Given the description of an element on the screen output the (x, y) to click on. 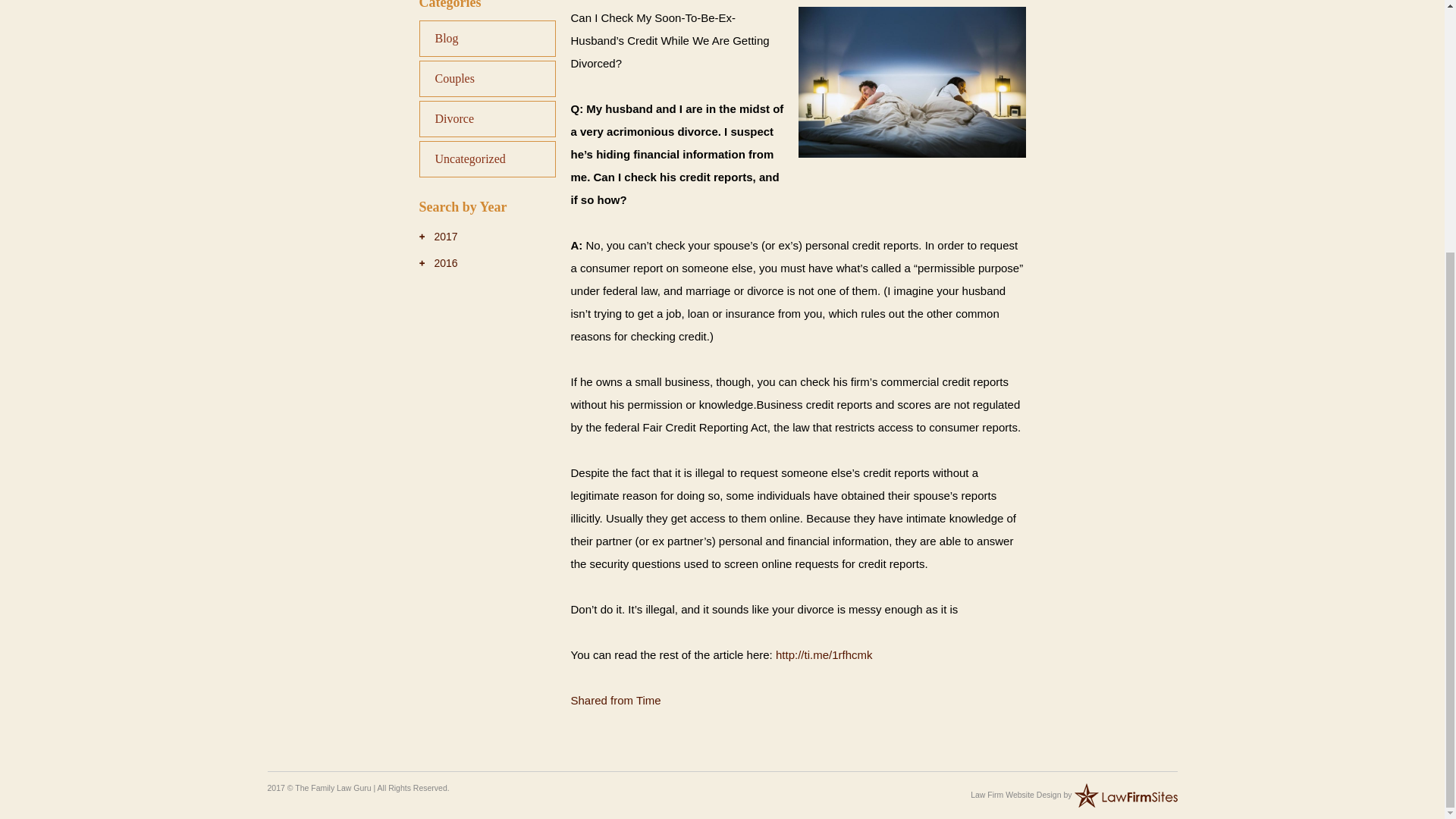
2017 (438, 236)
Uncategorized (486, 158)
Divorce (486, 118)
Couples (486, 78)
Blog (486, 38)
